Given the description of an element on the screen output the (x, y) to click on. 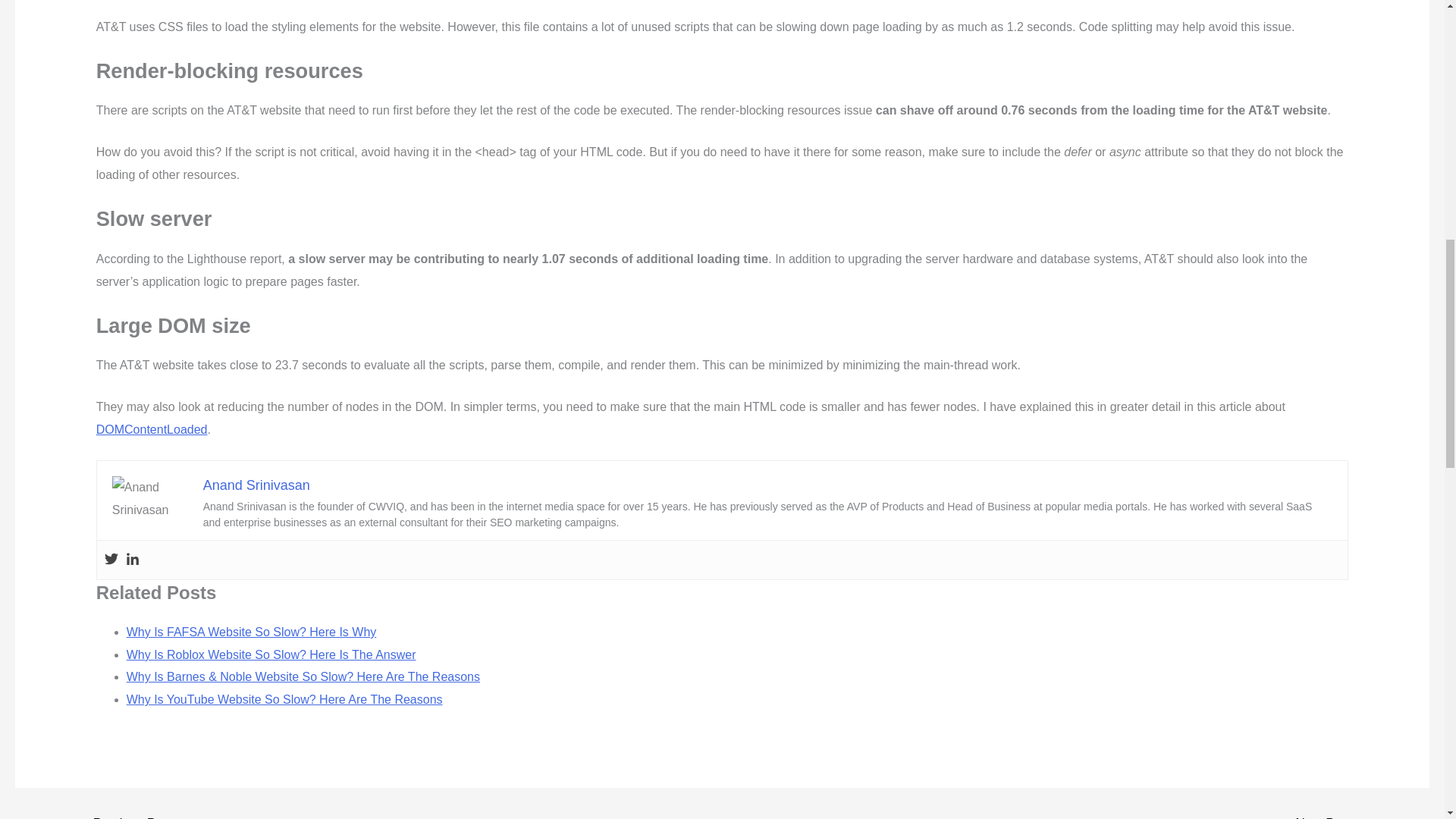
Twitter (110, 560)
Why Is Roblox Website So Slow? Here Is The Answer (271, 654)
DOMContentLoaded (152, 429)
Why Is FAFSA Website So Slow? Here Is Why (251, 631)
Anand Srinivasan (256, 485)
Why Is Roblox Website So Slow? Here Is The Answer (271, 654)
Why Is FAFSA Website So Slow? Here Is Why (251, 631)
Why Is YouTube Website So Slow? Here Are The Reasons (284, 698)
Linkedin (132, 560)
Why Is YouTube Website So Slow? Here Are The Reasons (284, 698)
